Given the description of an element on the screen output the (x, y) to click on. 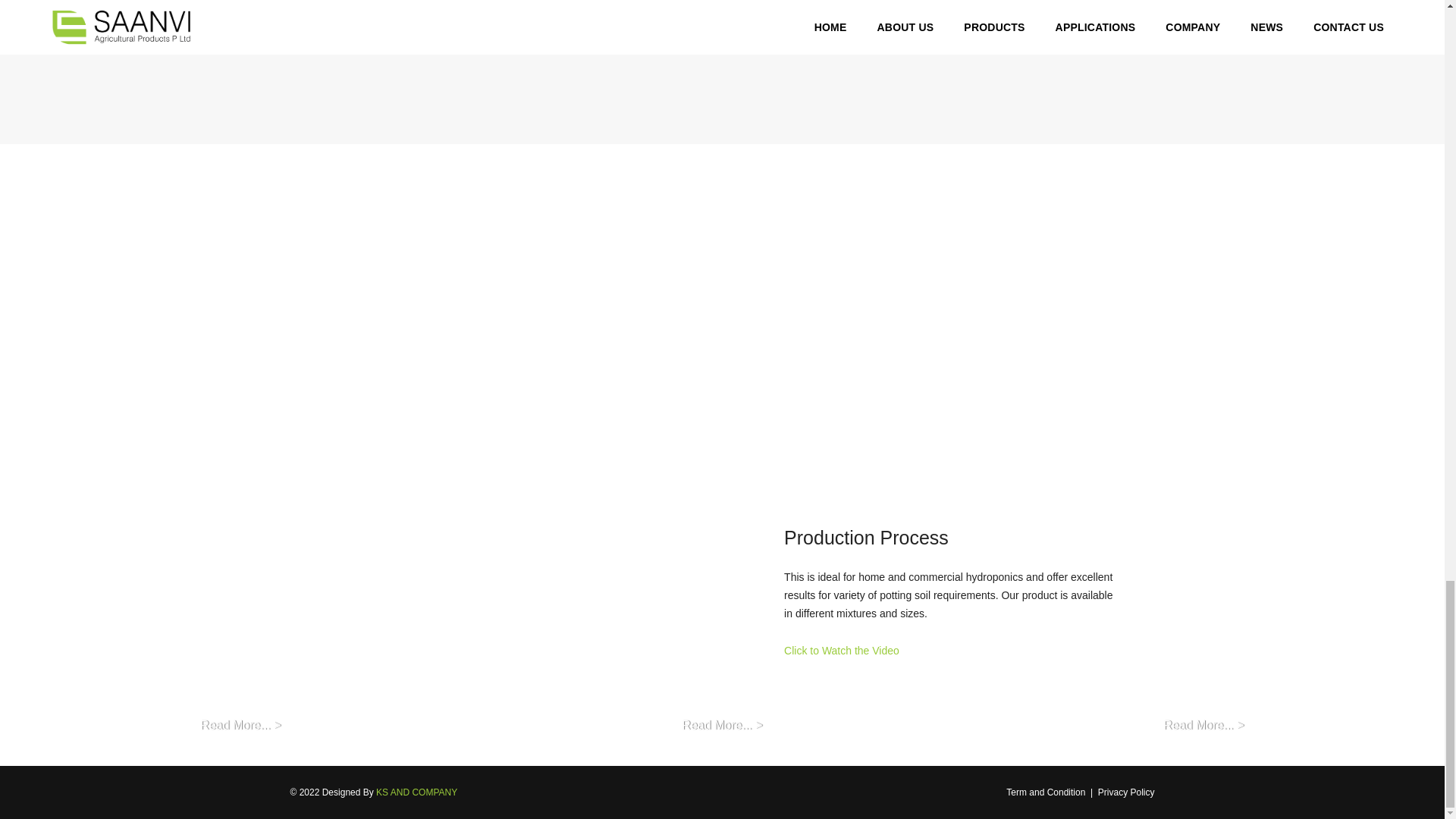
Click to Watch the Video (841, 650)
READ MORE (340, 378)
